Given the description of an element on the screen output the (x, y) to click on. 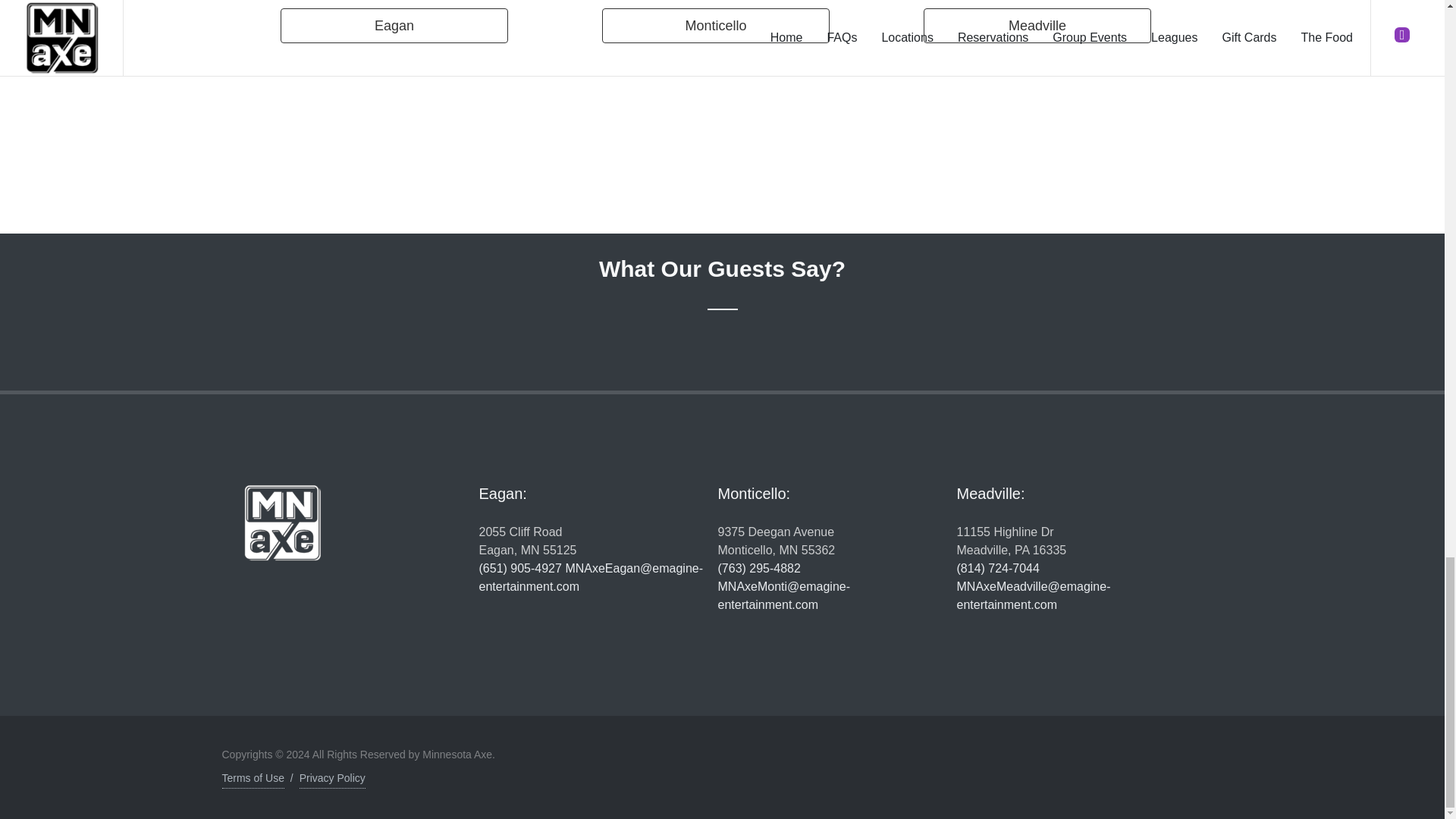
Eagan (394, 26)
Monticello (715, 26)
Privacy Policy (527, 540)
Meadville (332, 778)
Terms of Use (1011, 540)
